Given the description of an element on the screen output the (x, y) to click on. 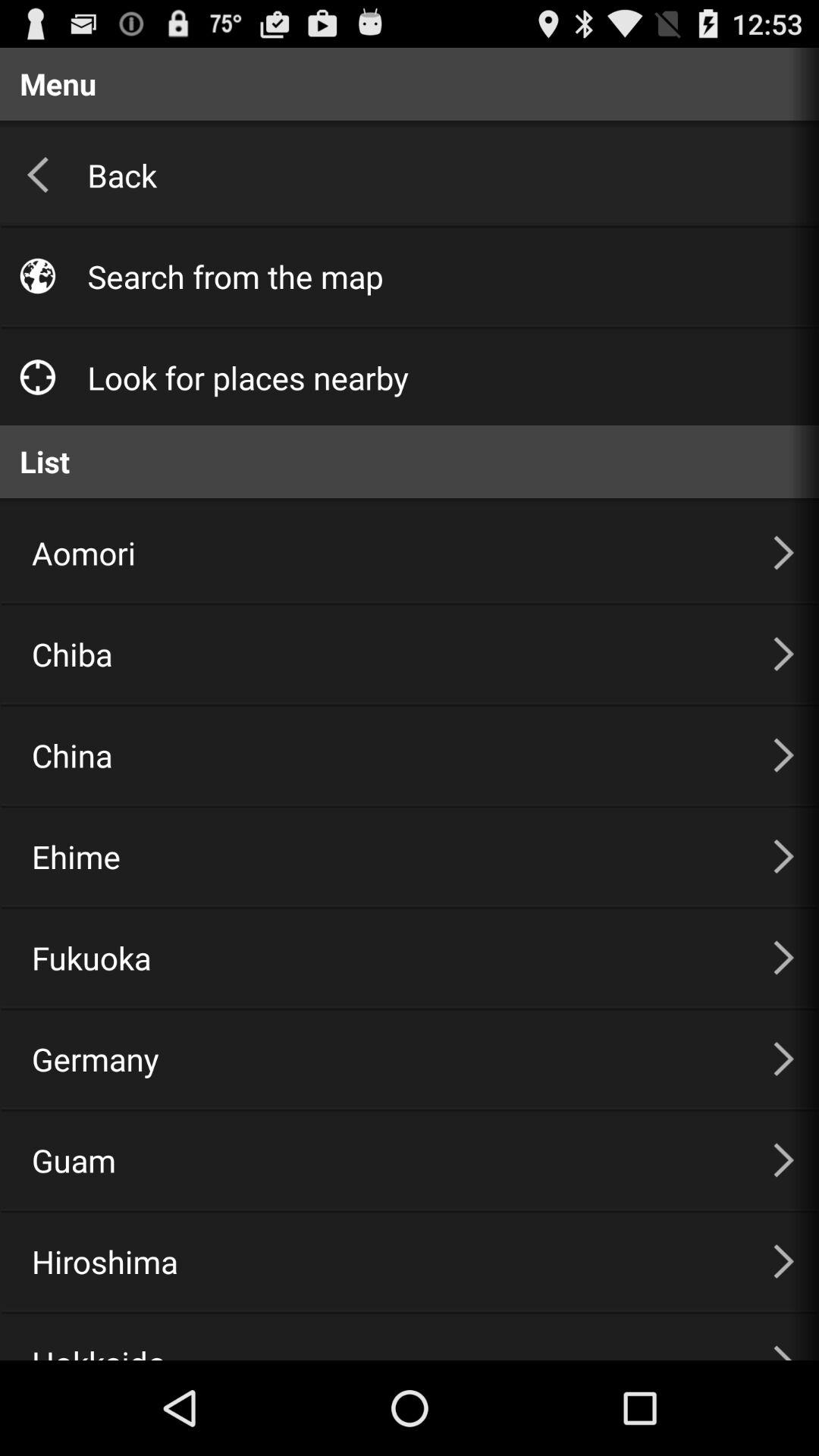
scroll until the hiroshima app (384, 1261)
